Given the description of an element on the screen output the (x, y) to click on. 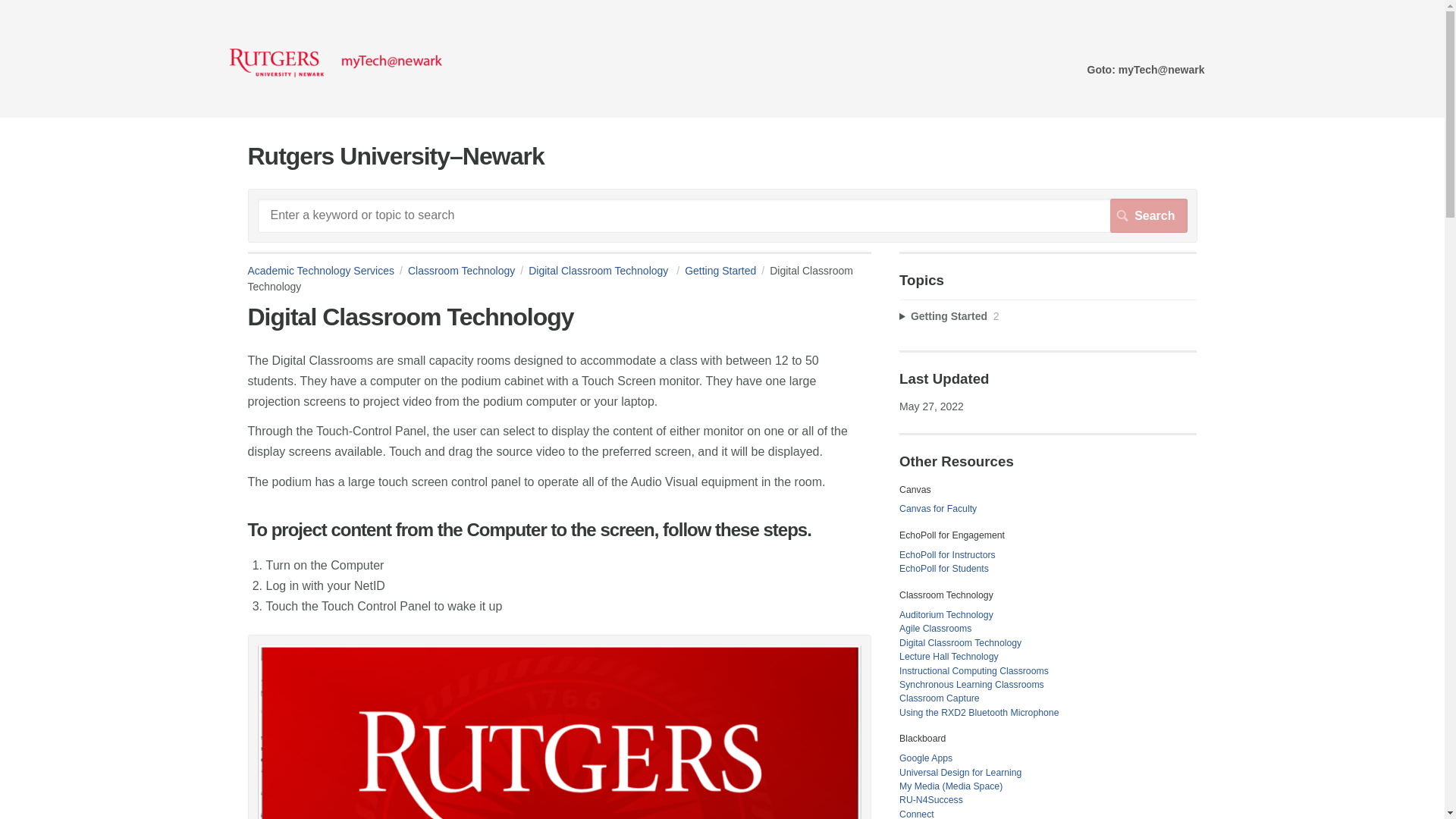
Agile Classrooms (935, 628)
RU-N4Success (930, 799)
Canvas for Faculty (937, 508)
Connect (916, 814)
Synchronous Learning Classrooms (971, 684)
Using the RXD2 Bluetooth Microphone (978, 712)
Digital Classroom Technology (960, 643)
Google Apps (925, 757)
Academic Technology Services (327, 270)
EchoPoll for Instructors (947, 554)
